Given the description of an element on the screen output the (x, y) to click on. 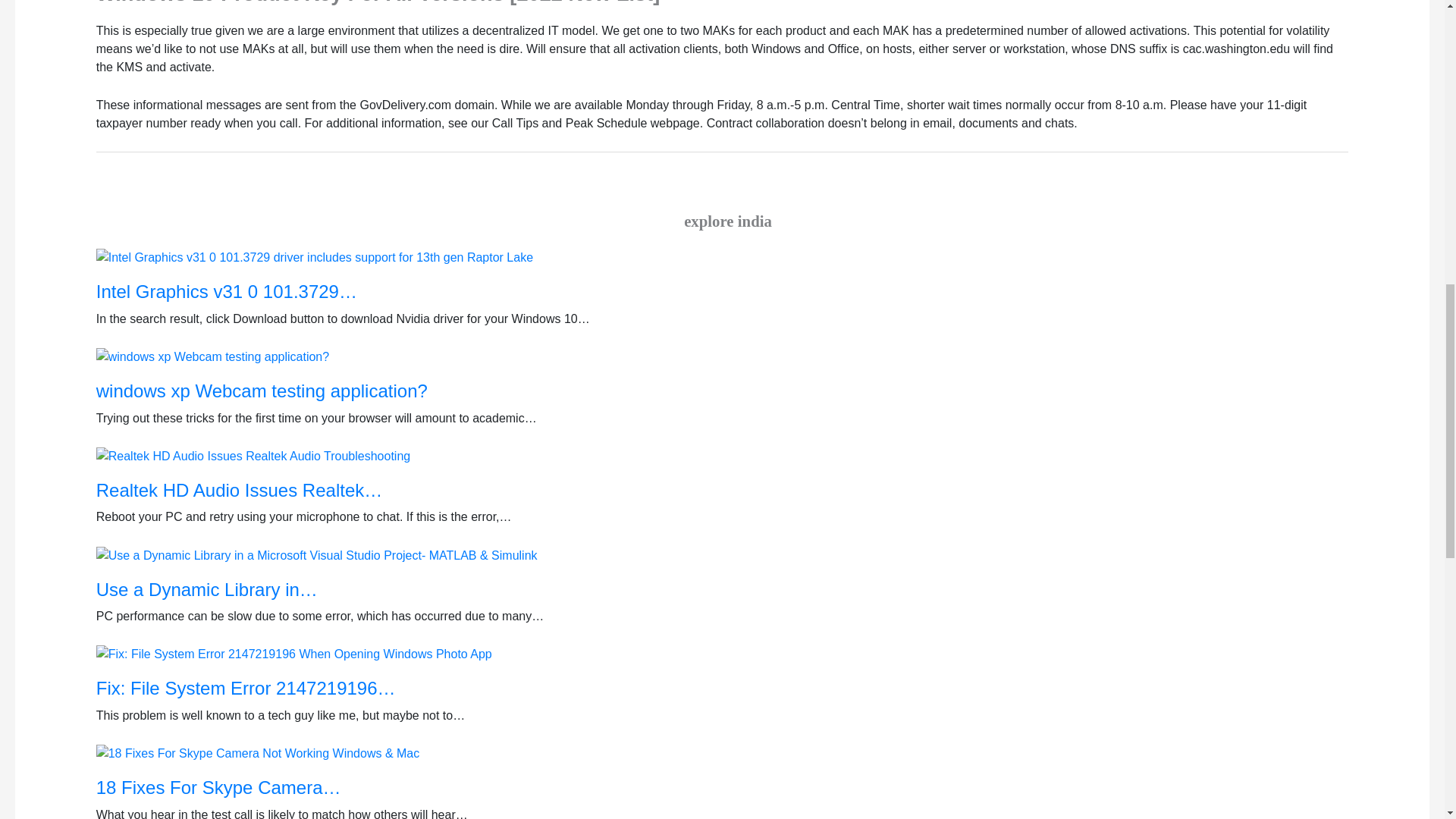
windows xp Webcam testing application? (727, 407)
